Given the description of an element on the screen output the (x, y) to click on. 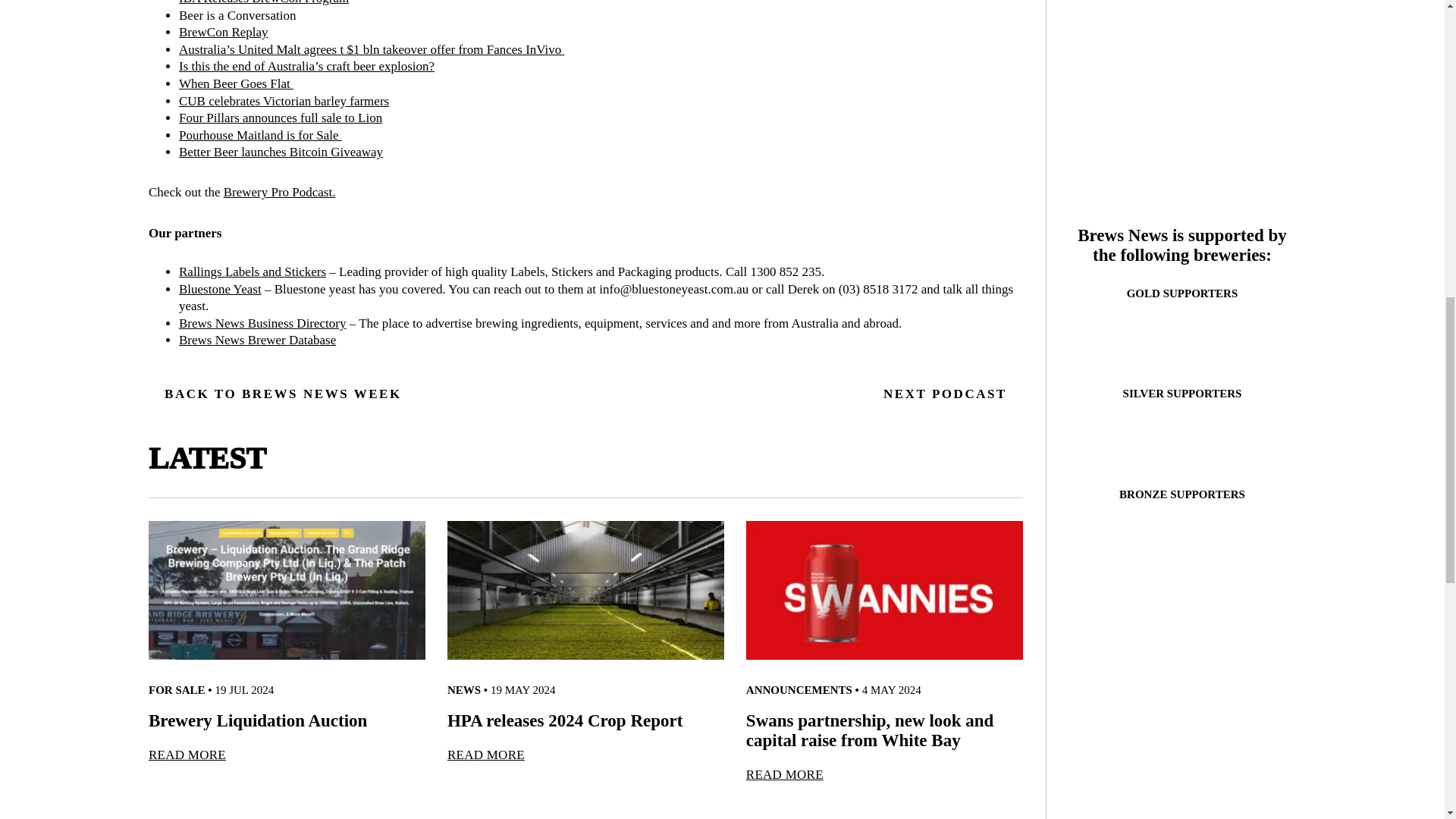
When Beer Goes Flat  (236, 83)
BrewCon Replay (223, 32)
IBA Releases BrewCon Program (264, 2)
